Given the description of an element on the screen output the (x, y) to click on. 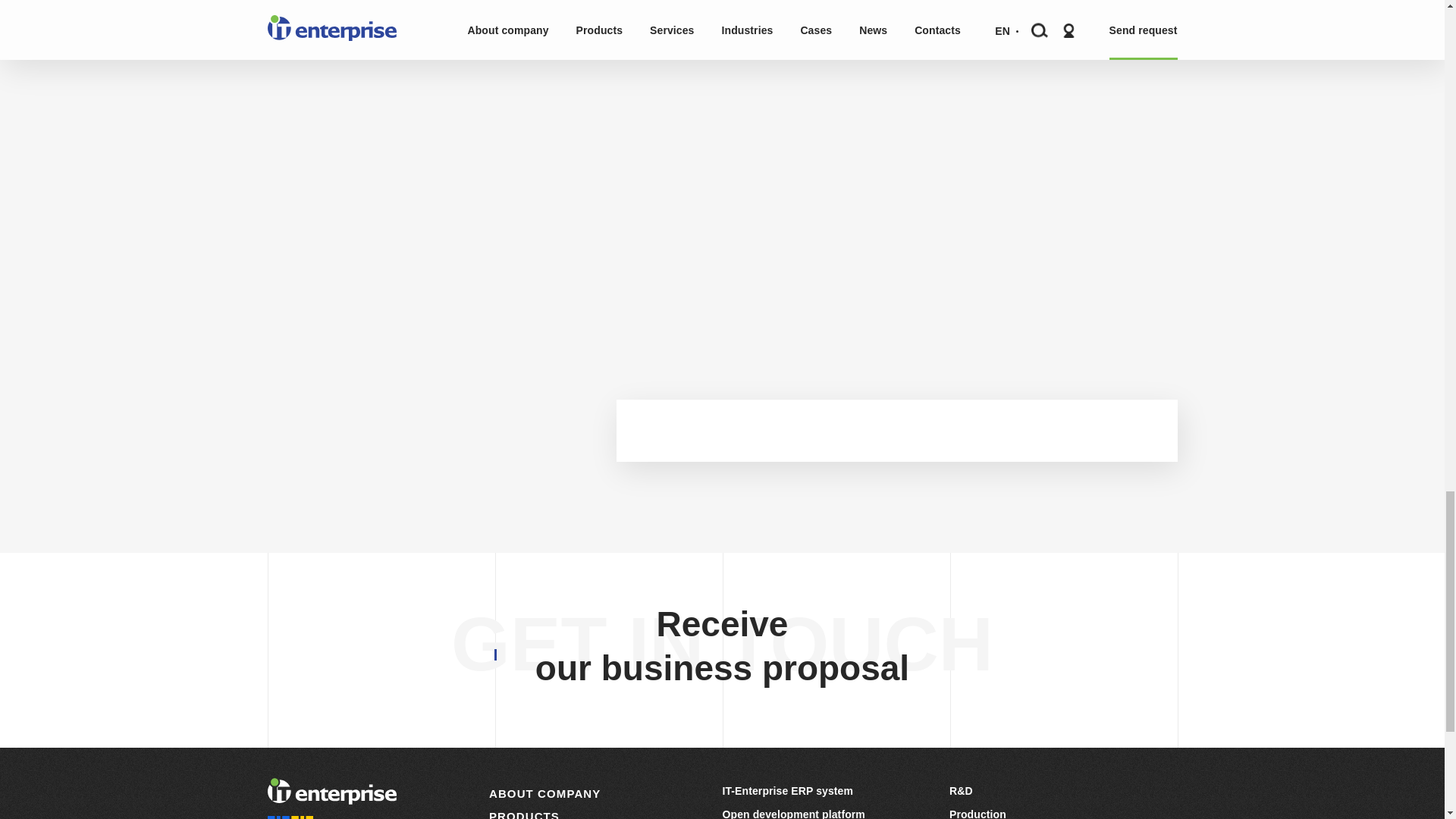
GET IN TOUCH (722, 643)
